Given the description of an element on the screen output the (x, y) to click on. 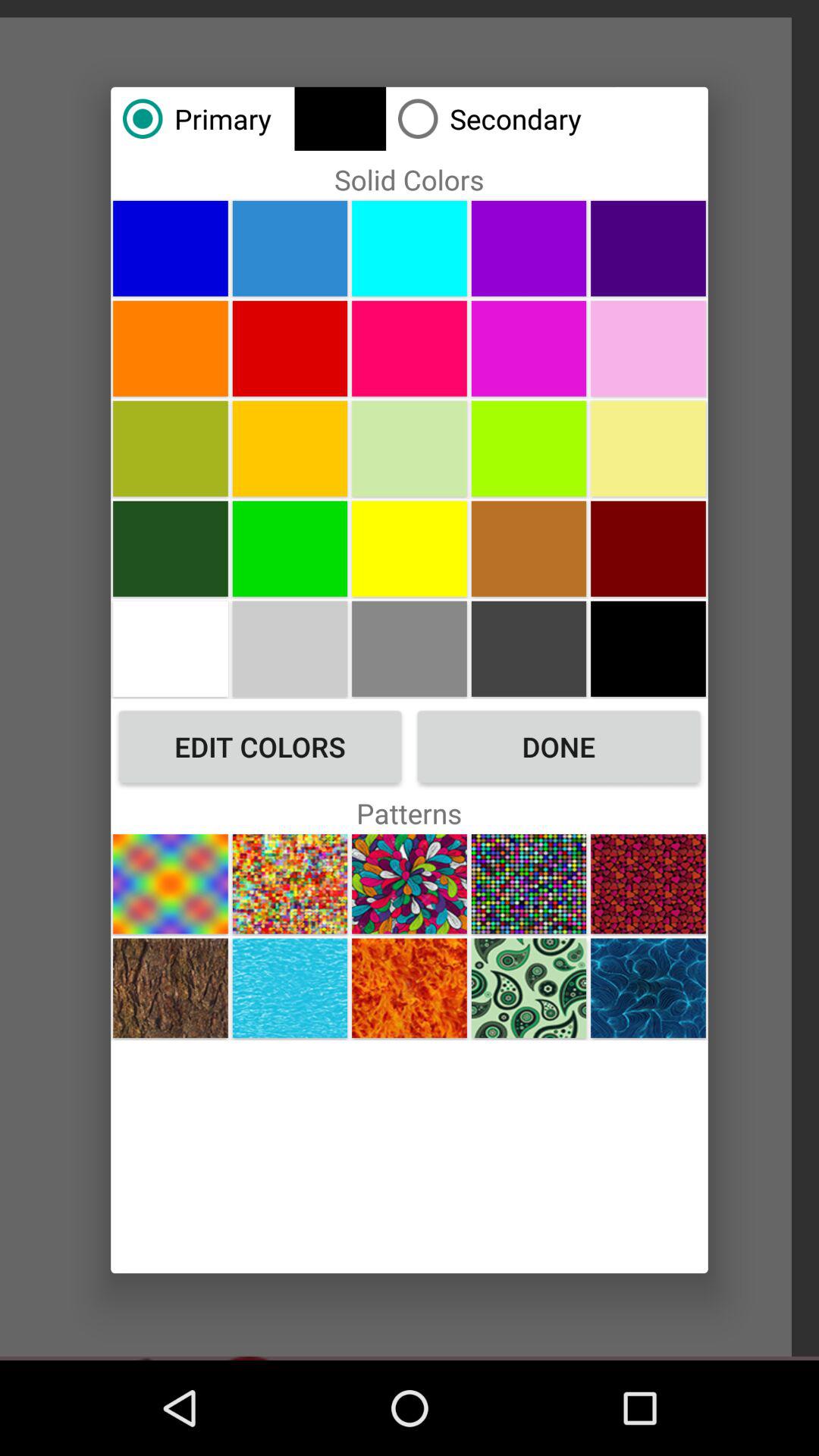
choose pattern image (647, 883)
